Given the description of an element on the screen output the (x, y) to click on. 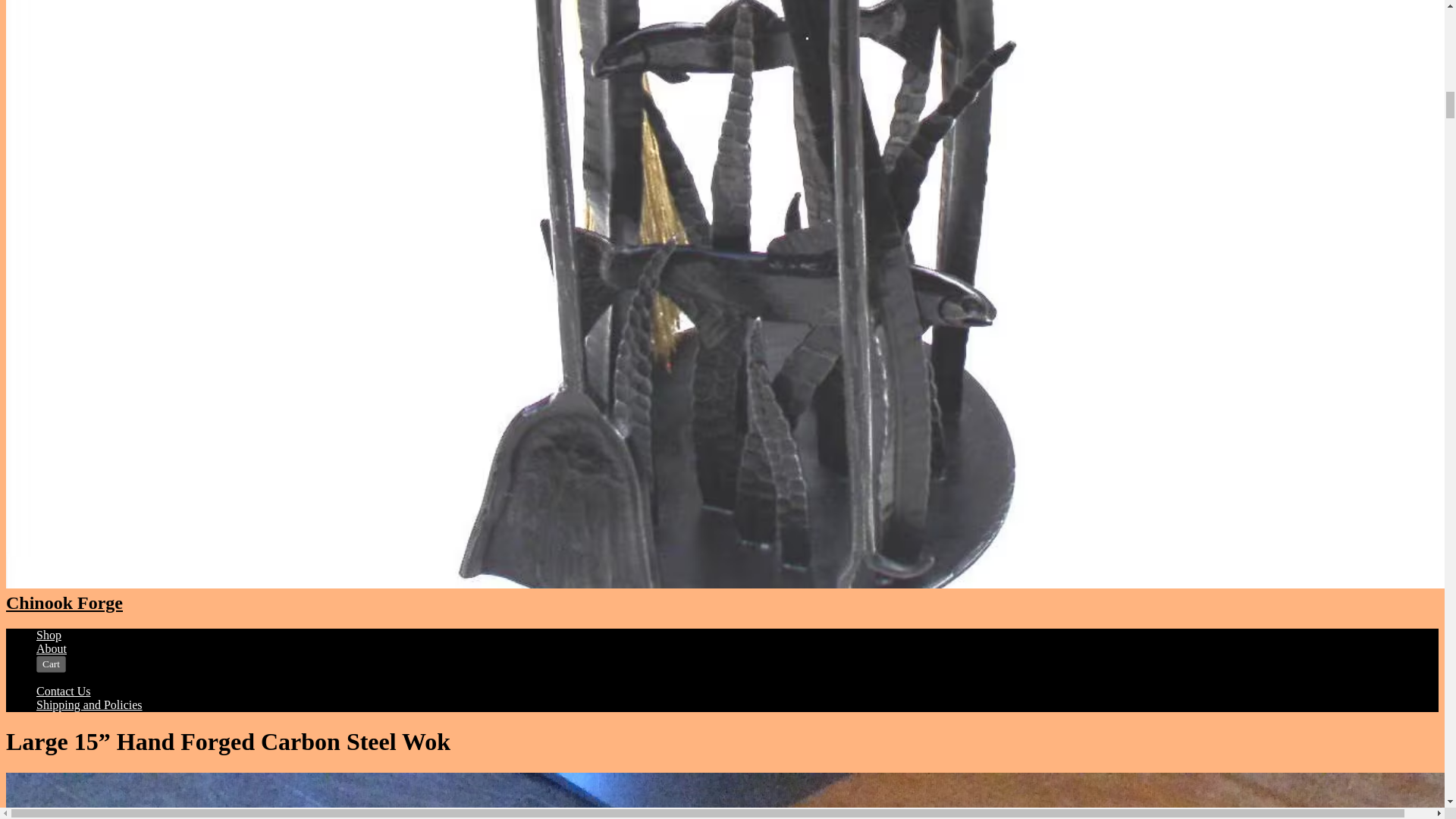
Cart (50, 664)
About (51, 648)
Shop (48, 634)
Contact Us (63, 690)
Shipping and Policies (89, 704)
